Given the description of an element on the screen output the (x, y) to click on. 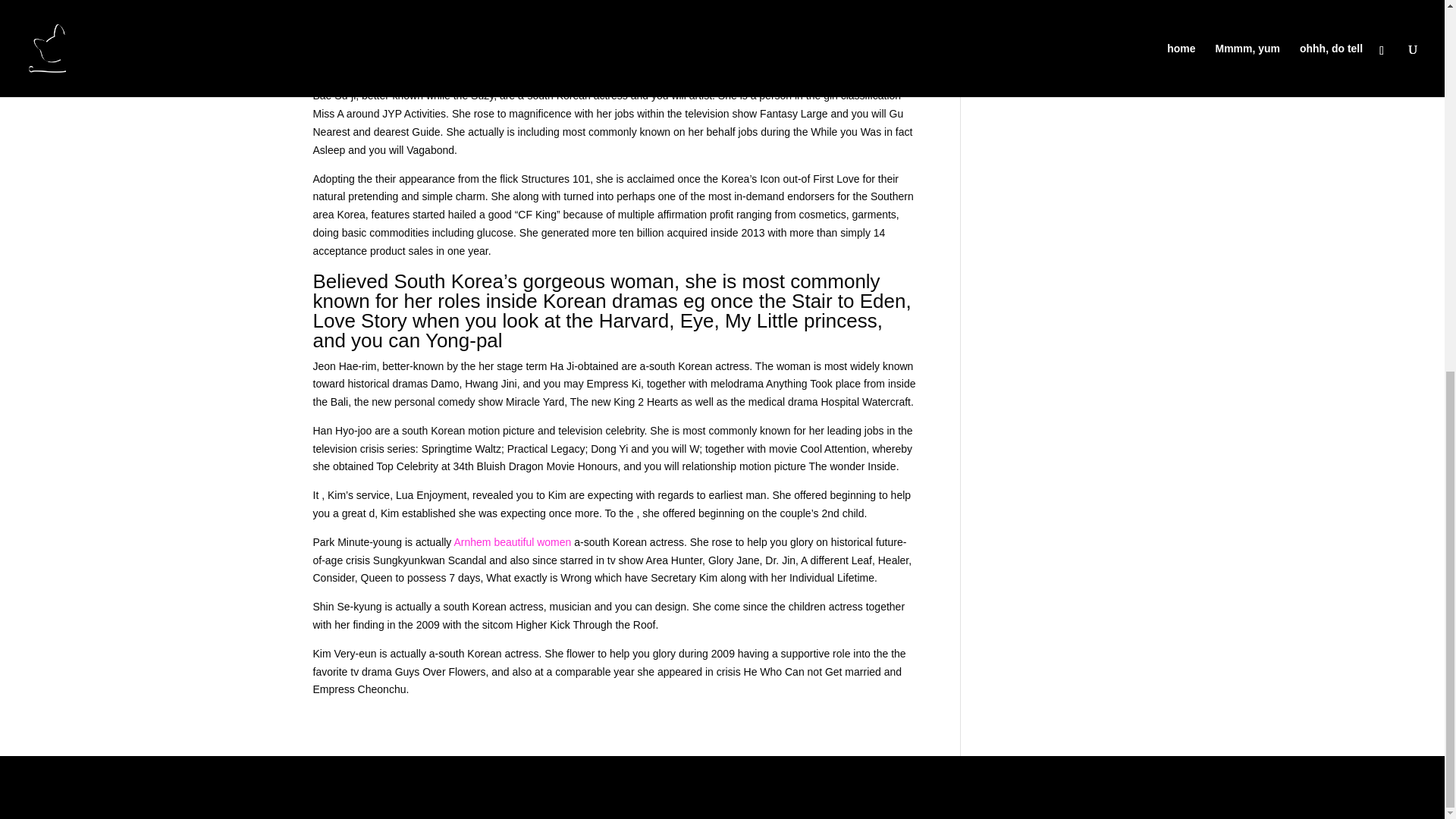
Arnhem beautiful women (511, 541)
